Given the description of an element on the screen output the (x, y) to click on. 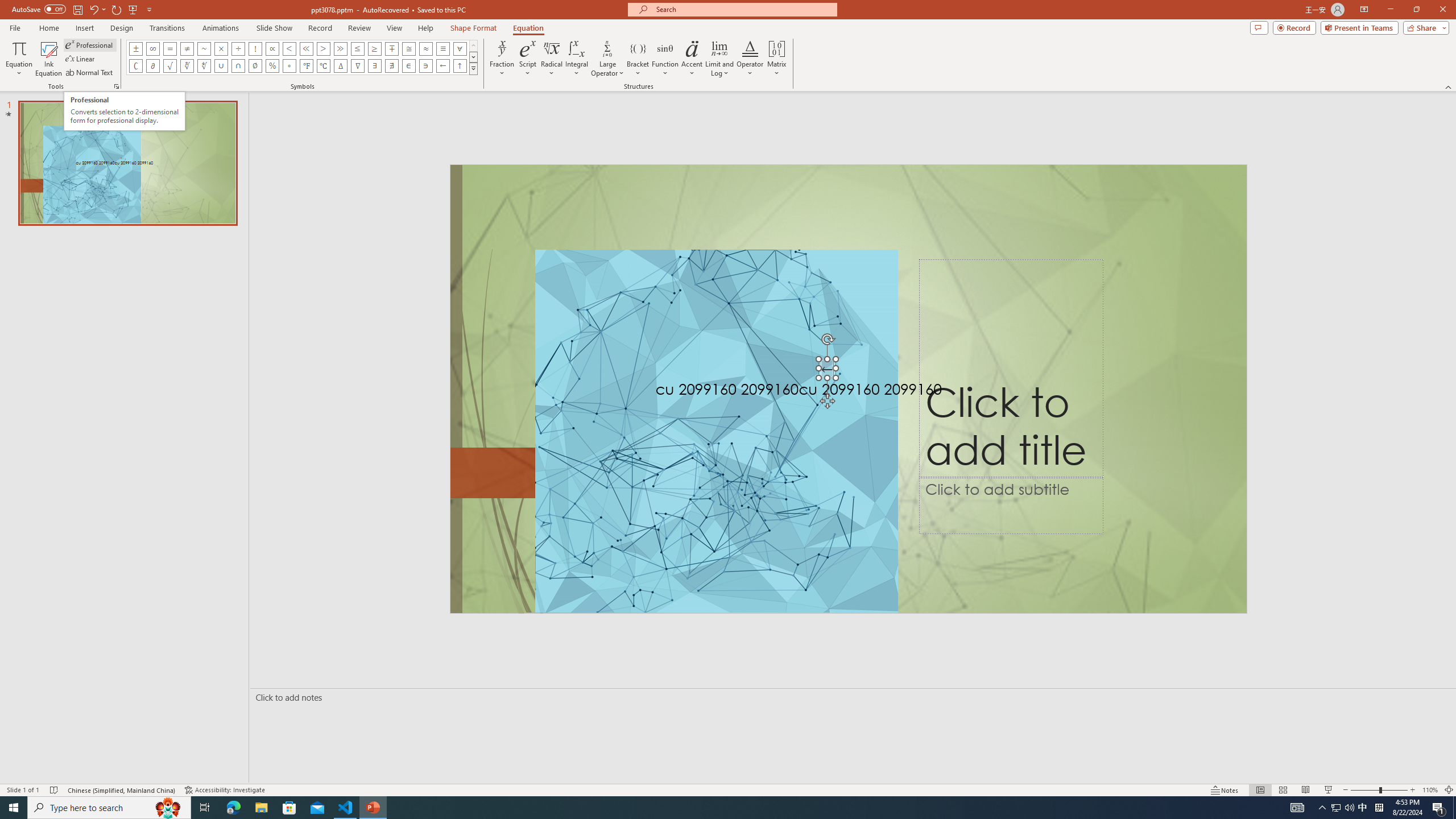
Equation Symbol There Does Not Exist (391, 65)
Radical (552, 58)
Equation Symbol Nabla (357, 65)
Script (527, 58)
Equation Symbol Much Greater Than (340, 48)
